Given the description of an element on the screen output the (x, y) to click on. 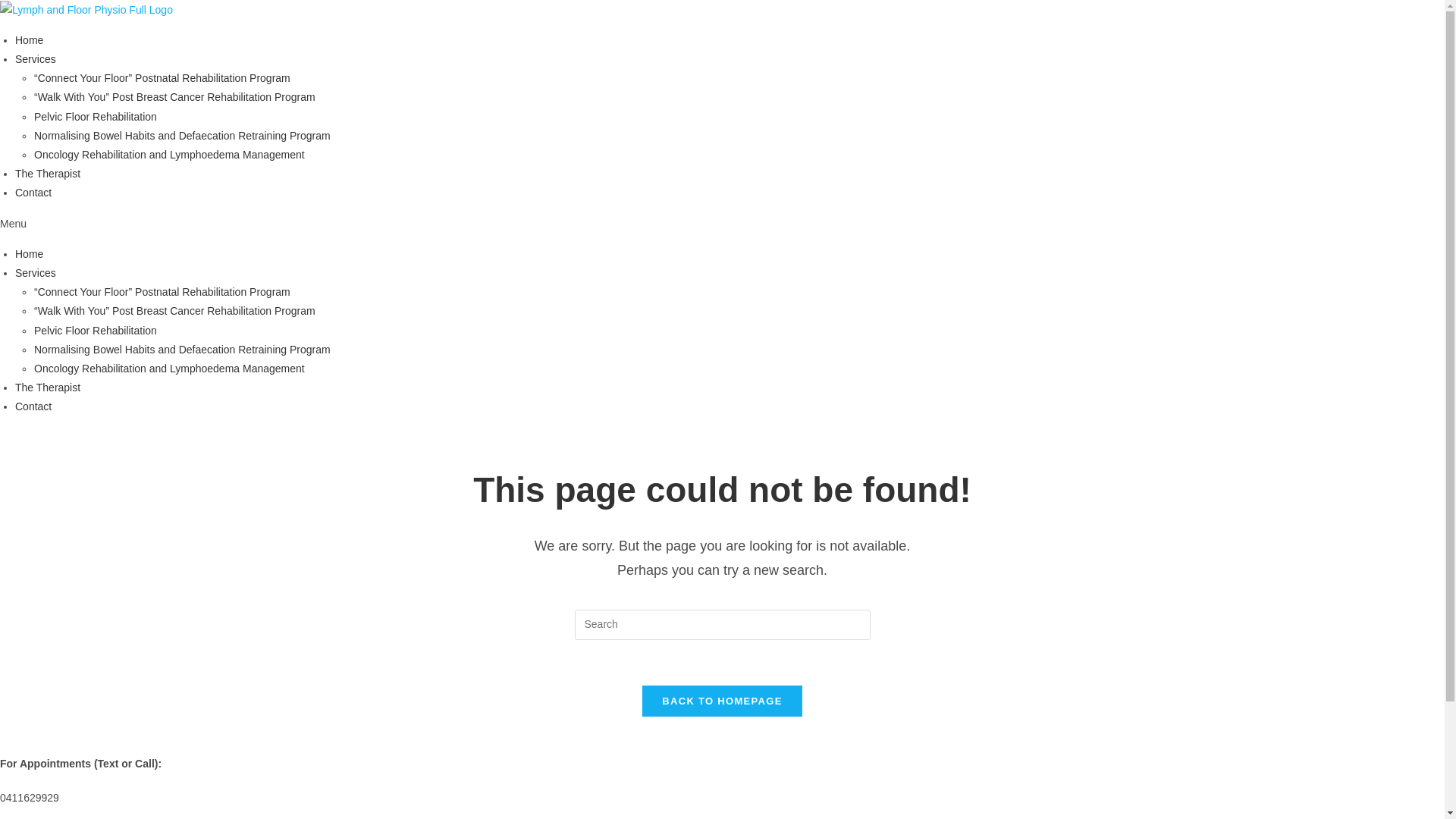
BACK TO HOMEPAGE Element type: text (721, 700)
Services Element type: text (35, 272)
Services Element type: text (35, 59)
The Therapist Element type: text (47, 387)
Pelvic Floor Rehabilitation Element type: text (95, 330)
Normalising Bowel Habits and Defaecation Retraining Program Element type: text (182, 135)
Contact Element type: text (33, 192)
Normalising Bowel Habits and Defaecation Retraining Program Element type: text (182, 349)
The Therapist Element type: text (47, 173)
Contact Element type: text (33, 406)
Home Element type: text (29, 40)
Pelvic Floor Rehabilitation Element type: text (95, 116)
Home Element type: text (29, 253)
Oncology Rehabilitation and Lymphoedema Management Element type: text (169, 154)
Oncology Rehabilitation and Lymphoedema Management Element type: text (169, 368)
